Given the description of an element on the screen output the (x, y) to click on. 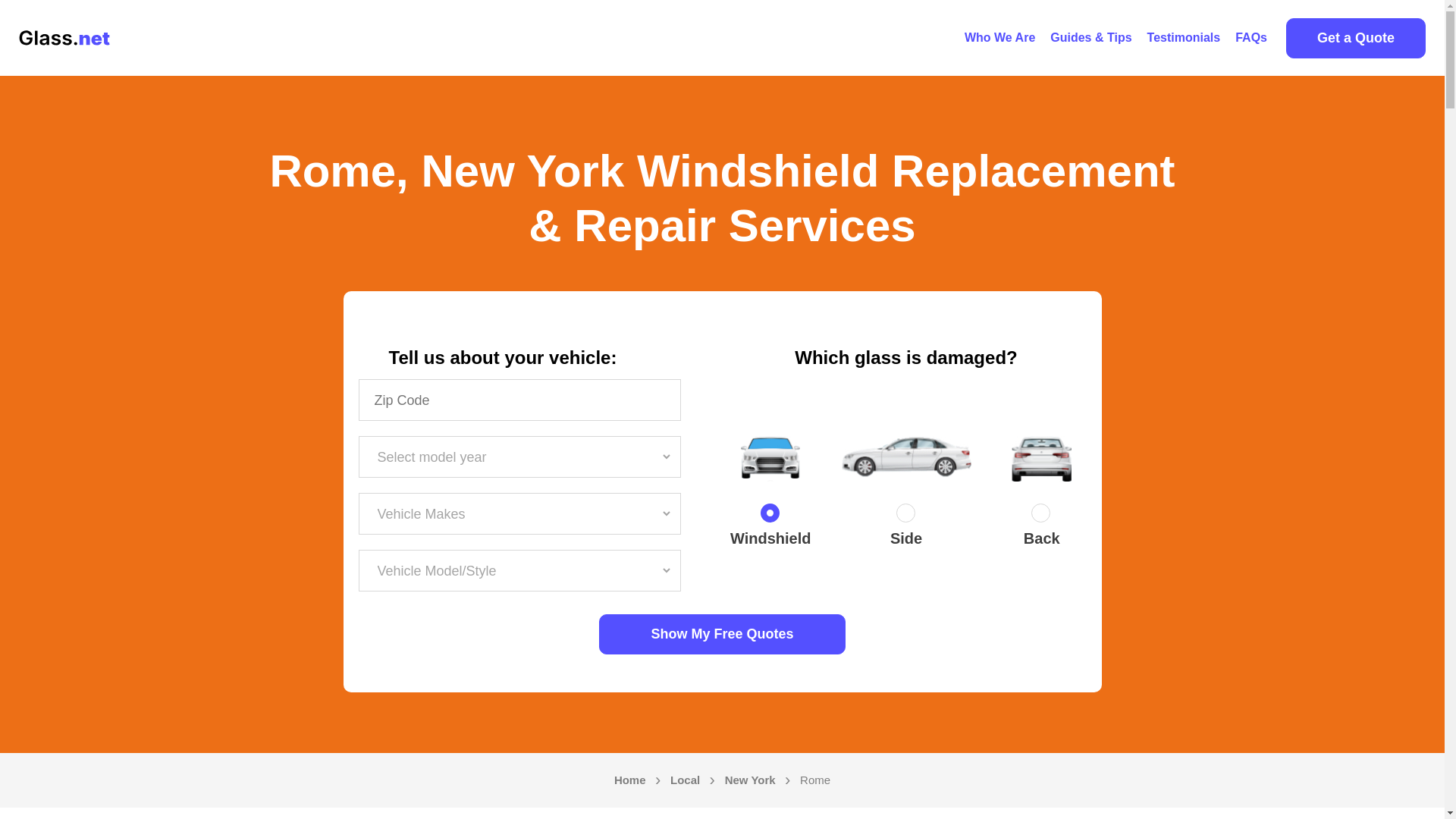
Testimonials (1184, 37)
Testimonials (1184, 37)
Show My Free Quotes (721, 634)
Home (630, 780)
A Market Place for Car Glass (999, 37)
front (770, 516)
Who We Are (999, 37)
Get a Quote (1355, 38)
side (905, 516)
Rome (814, 780)
